Given the description of an element on the screen output the (x, y) to click on. 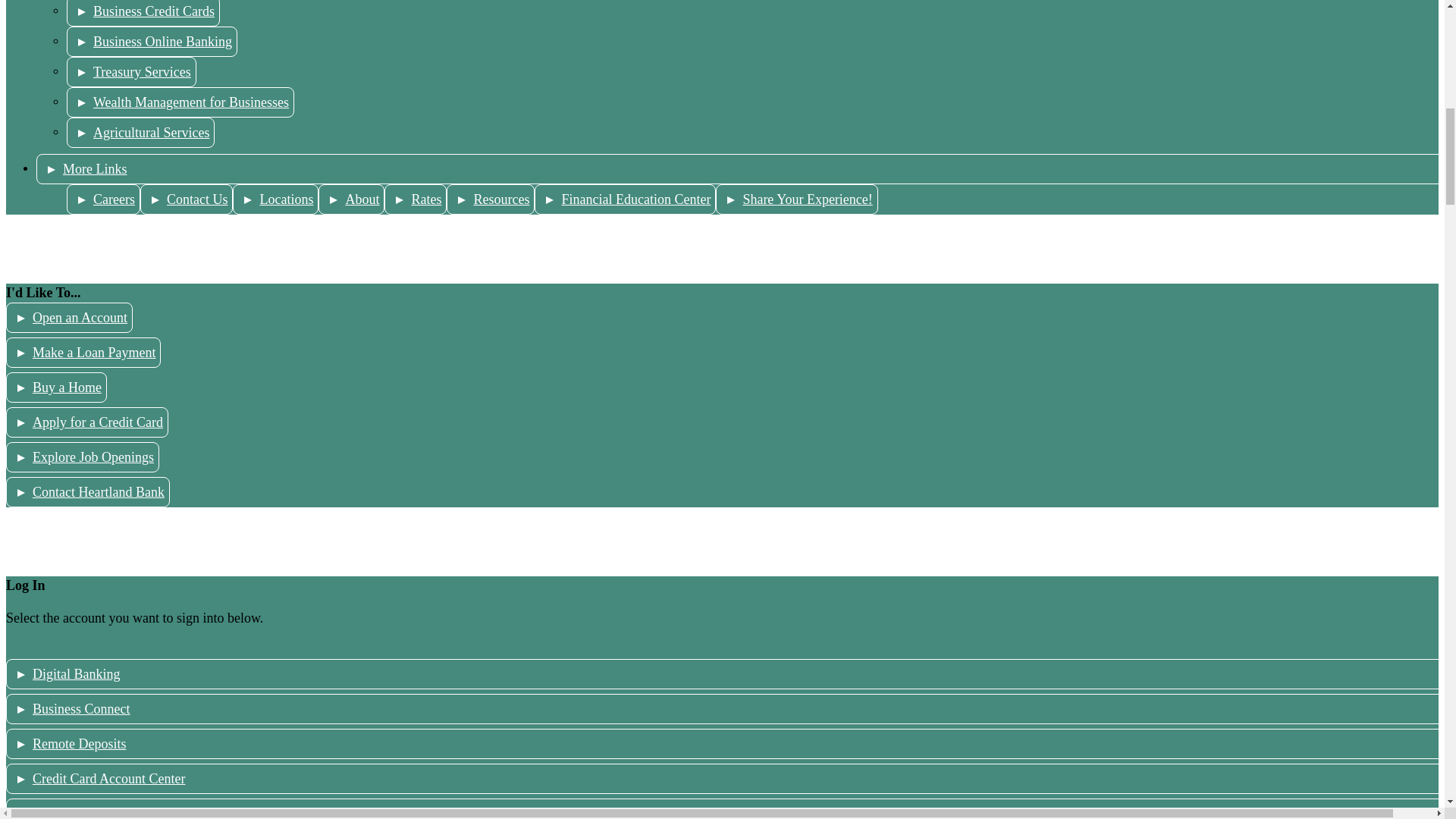
Treasury Services (131, 71)
Business Credit Cards (142, 13)
Business Credit Cards (142, 13)
Locations (275, 199)
Agricultural Services (140, 132)
Agricultural Services (140, 132)
Treasury Services (131, 71)
Resources (490, 199)
Business Online Banking (151, 41)
Share Your Experience! (796, 199)
Contact Us (185, 199)
Rates (415, 199)
Financial Education Center (625, 199)
About (351, 199)
Business Online Banking (151, 41)
